Given the description of an element on the screen output the (x, y) to click on. 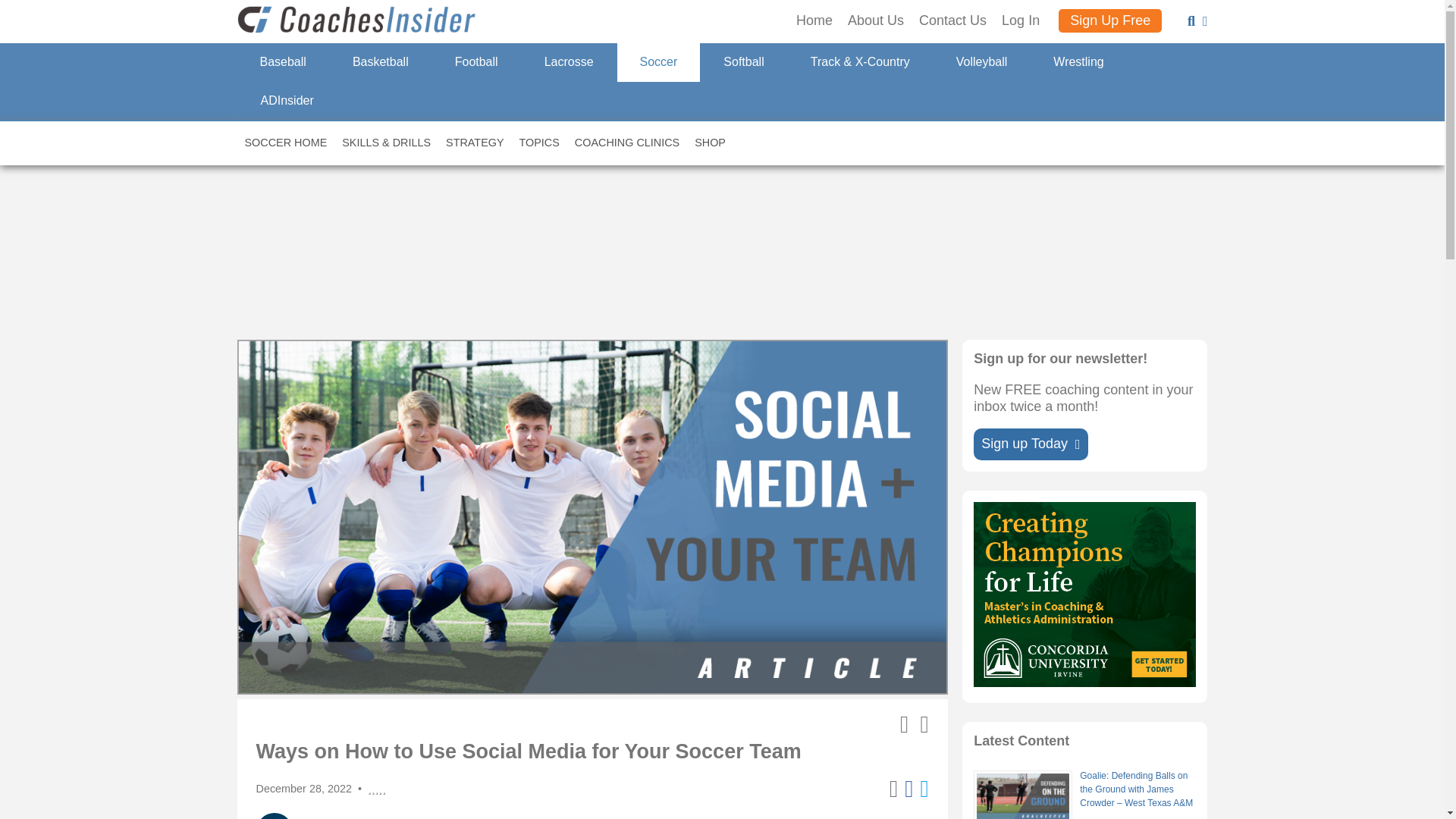
Softball (743, 62)
COACHING CLINICS (627, 142)
About Us (875, 21)
STRATEGY (475, 142)
Baseball (282, 62)
SHOP (710, 142)
Lacrosse (568, 62)
Contact Us (952, 21)
Coaches Insider (357, 21)
Wrestling (1077, 62)
